Given the description of an element on the screen output the (x, y) to click on. 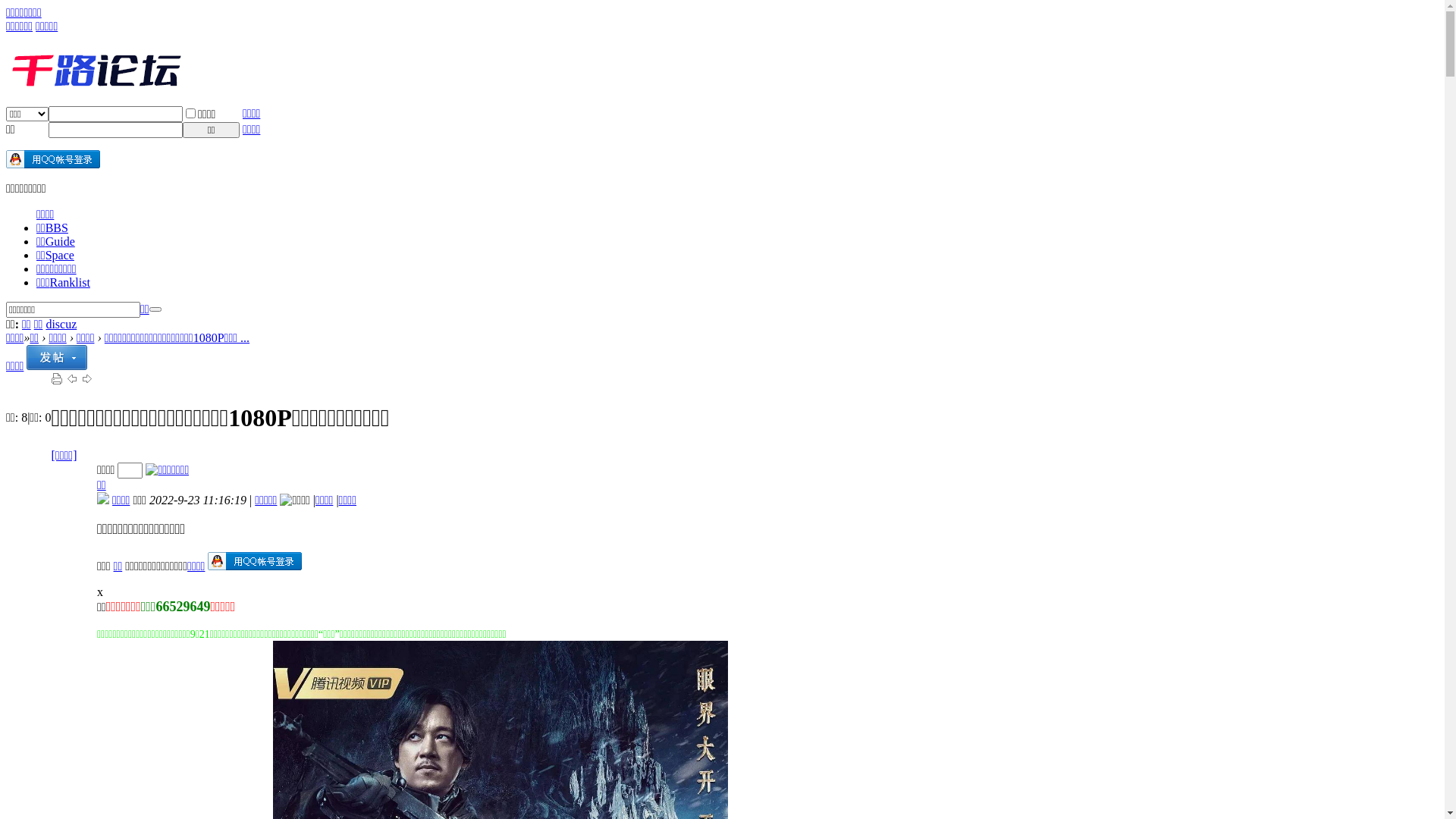
discuz Element type: text (60, 323)
x Element type: text (100, 591)
true Element type: text (155, 309)
